Given the description of an element on the screen output the (x, y) to click on. 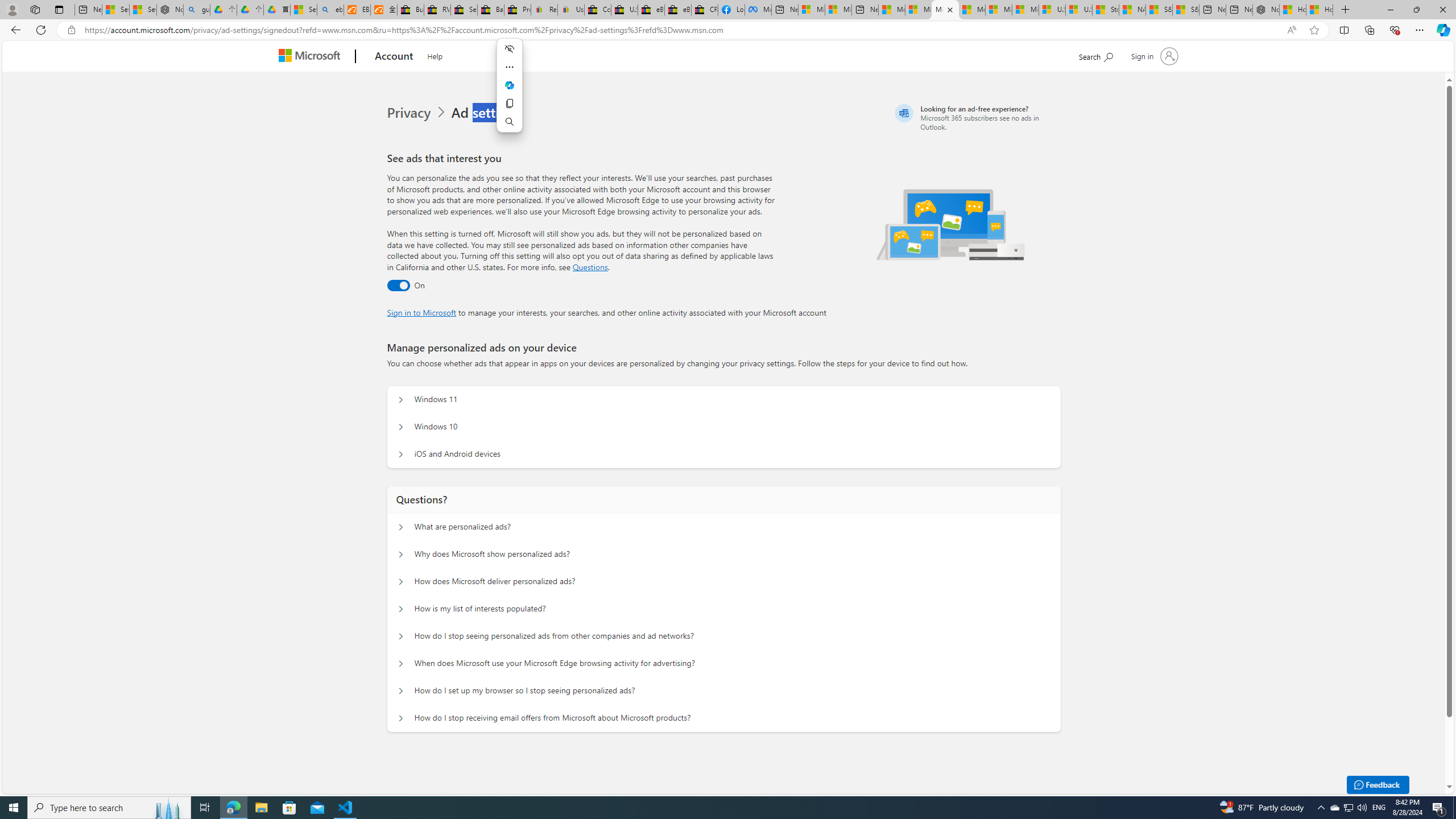
guge yunpan - Search (197, 9)
Ad settings toggle (398, 285)
Privacy (410, 112)
Sign in to your account (1153, 55)
Questions? How is my list of interests populated? (401, 608)
Mini menu on text selection (509, 84)
